Given the description of an element on the screen output the (x, y) to click on. 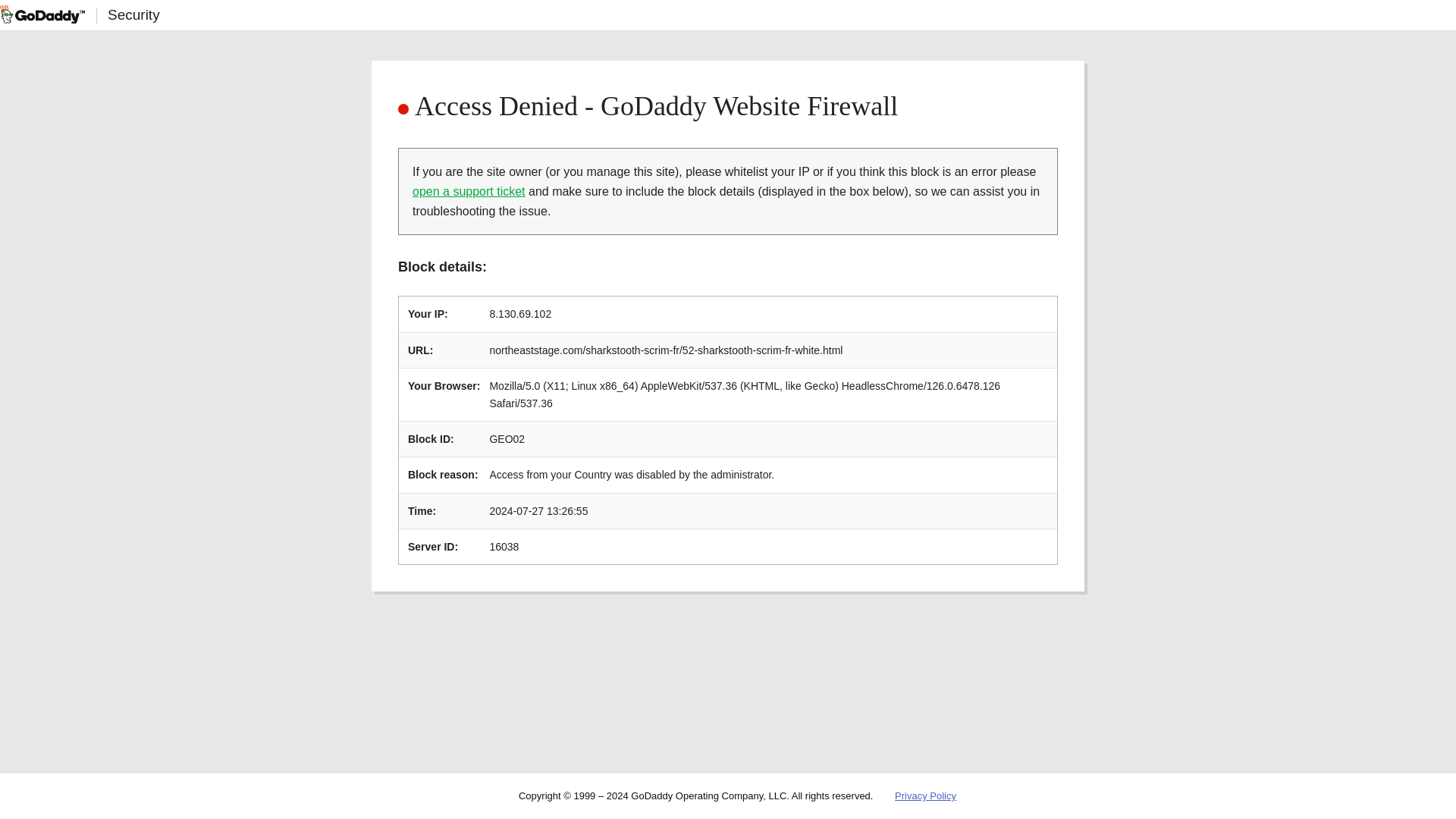
Privacy Policy (925, 795)
open a support ticket (468, 191)
